Given the description of an element on the screen output the (x, y) to click on. 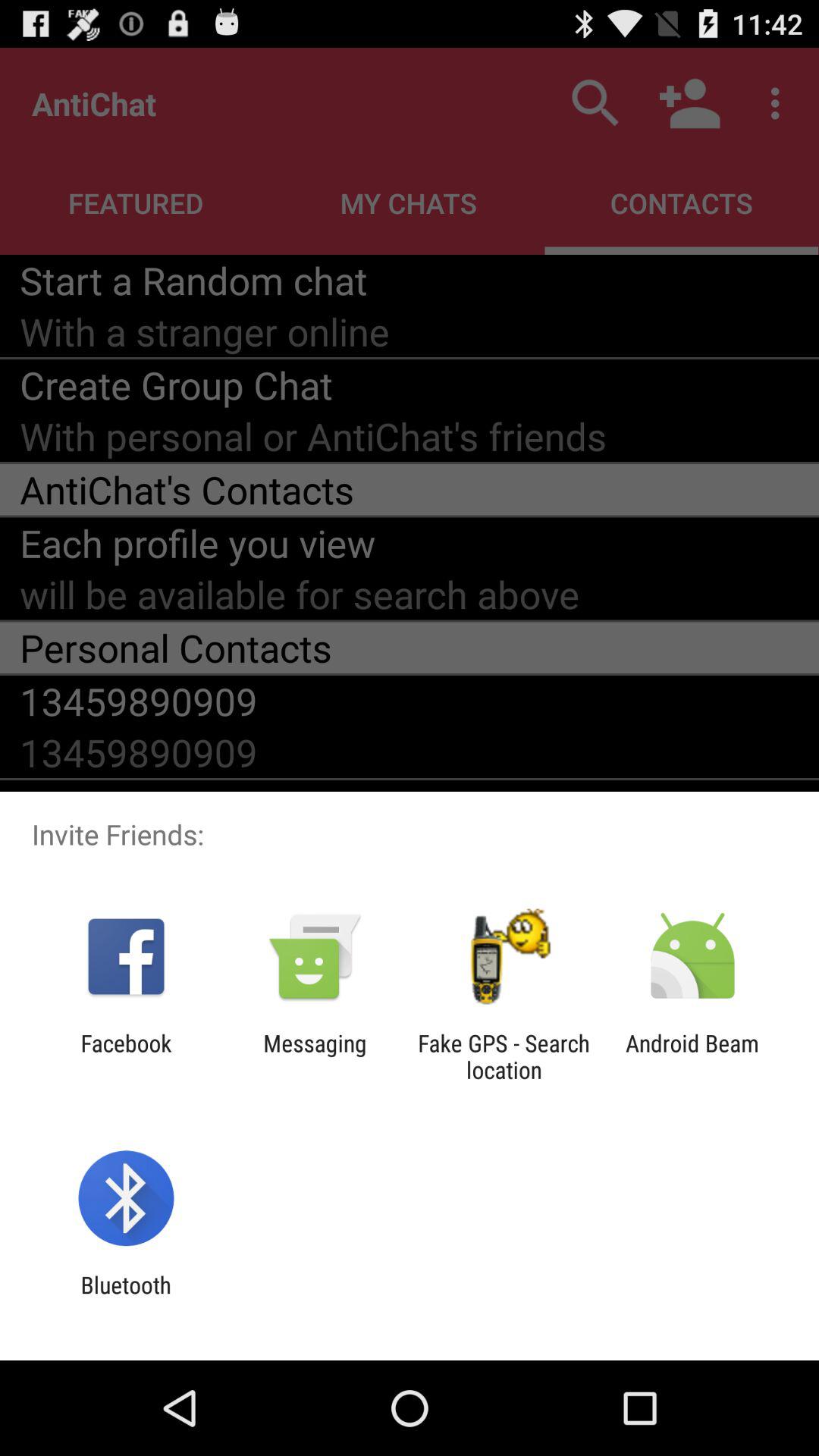
press the item next to the android beam icon (503, 1056)
